Given the description of an element on the screen output the (x, y) to click on. 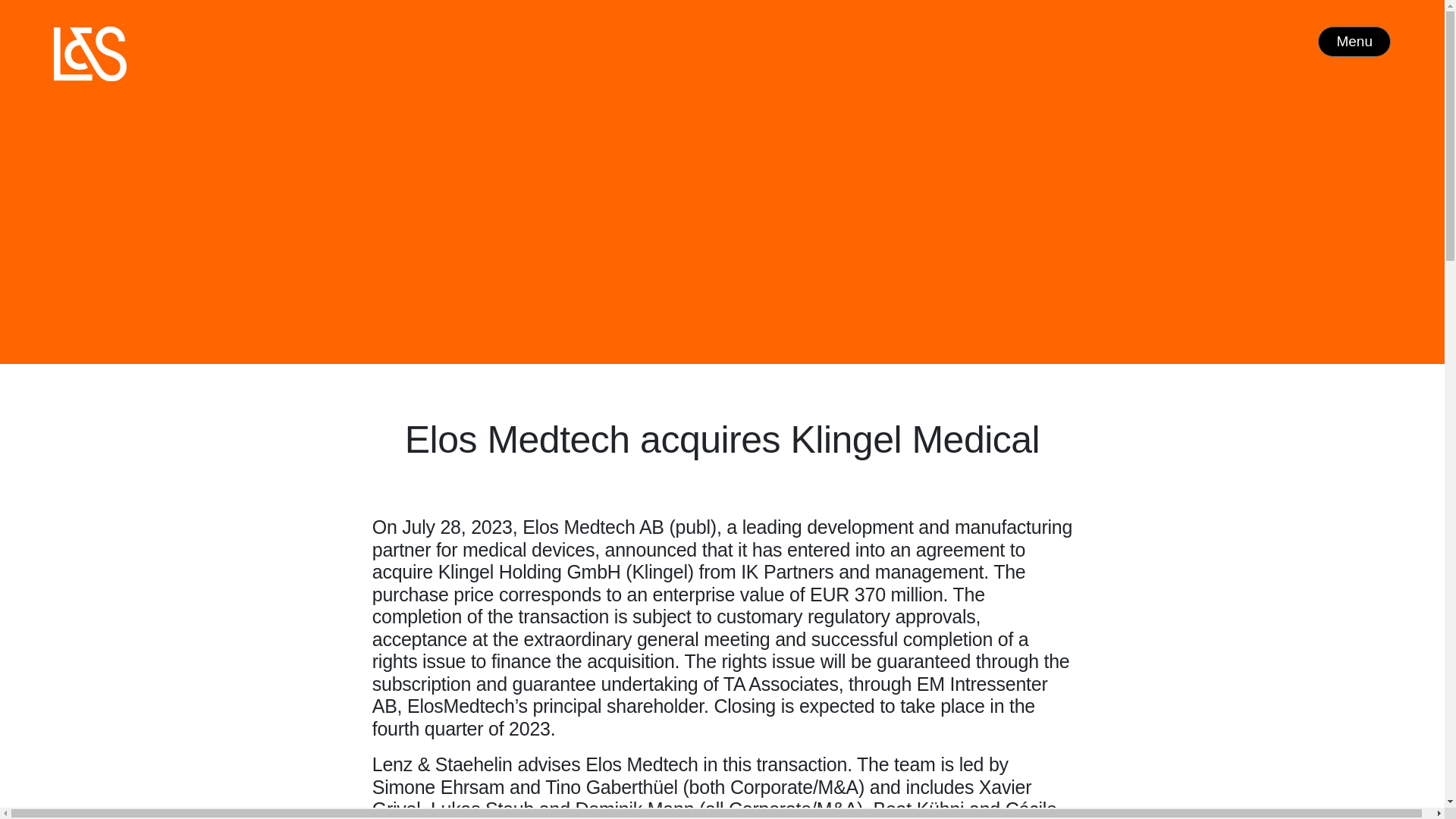
Menu (1353, 41)
